Given the description of an element on the screen output the (x, y) to click on. 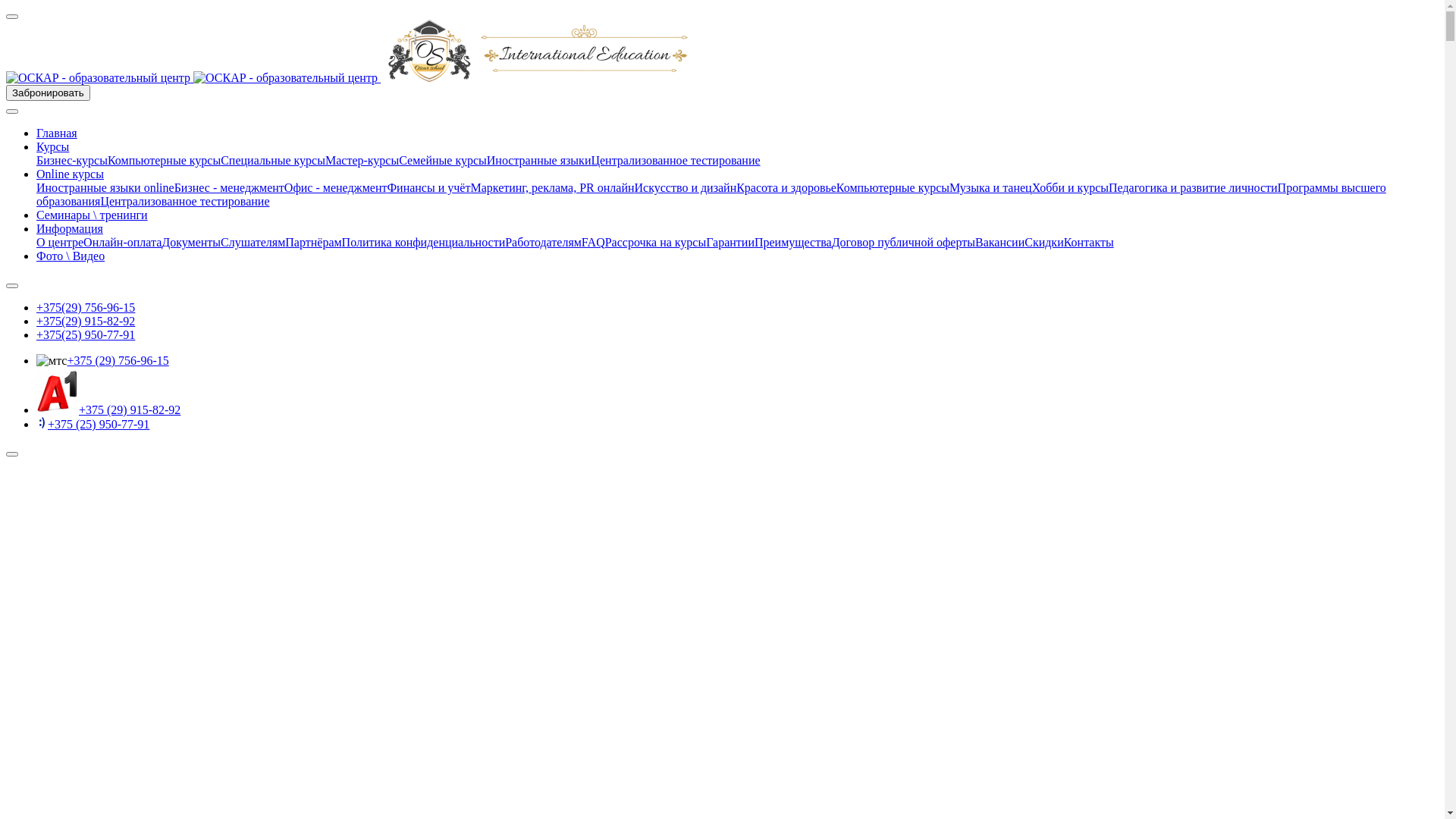
FAQ Element type: text (593, 241)
+375 (29) 756-96-15 Element type: text (117, 360)
+375(29) 915-82-92 Element type: text (85, 320)
Close Element type: hover (12, 16)
+375(25) 950-77-91 Element type: text (85, 334)
+375 (25) 950-77-91 Element type: text (98, 423)
+375 (29) 915-82-92 Element type: text (129, 409)
+375(29) 756-96-15 Element type: text (85, 307)
